Given the description of an element on the screen output the (x, y) to click on. 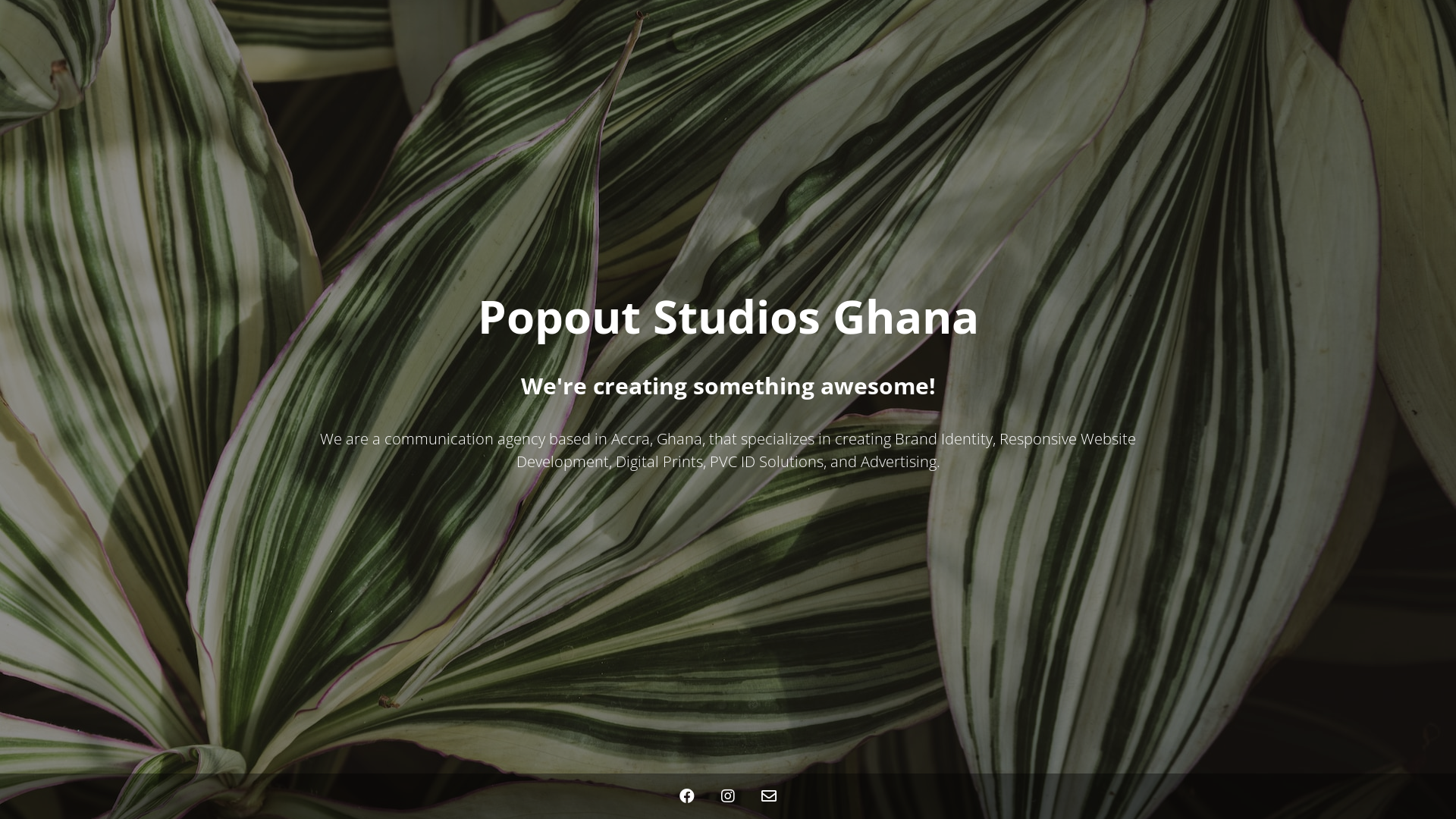
Popout Studios Ghana Element type: text (728, 324)
